Given the description of an element on the screen output the (x, y) to click on. 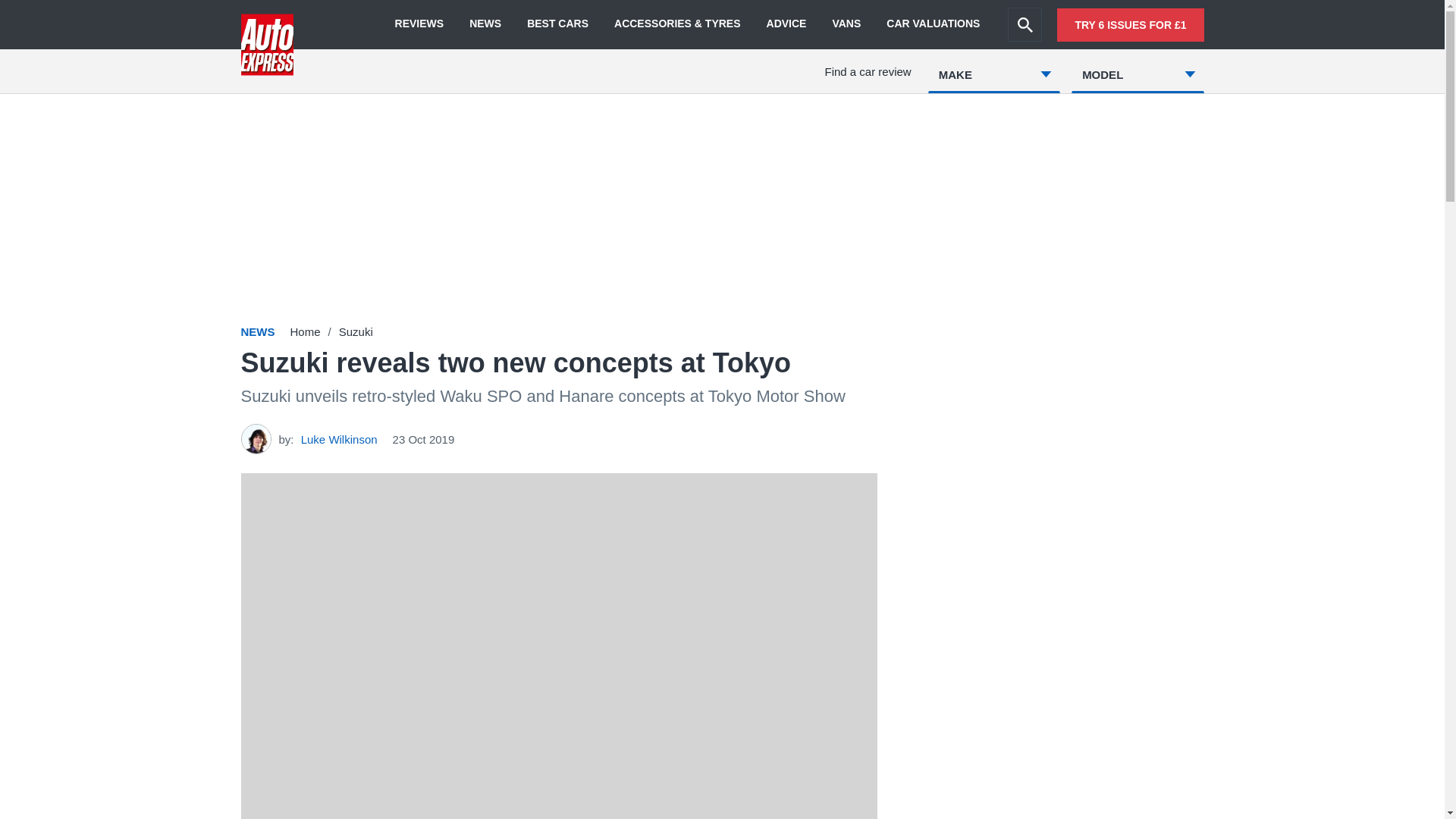
NEWS (485, 24)
Suzuki (355, 331)
CAR VALUATIONS (932, 24)
REVIEWS (419, 24)
VANS (845, 24)
Search (1024, 24)
BEST CARS (557, 24)
Search (1024, 24)
Luke Wilkinson (339, 438)
ADVICE (786, 24)
Home (304, 331)
